Given the description of an element on the screen output the (x, y) to click on. 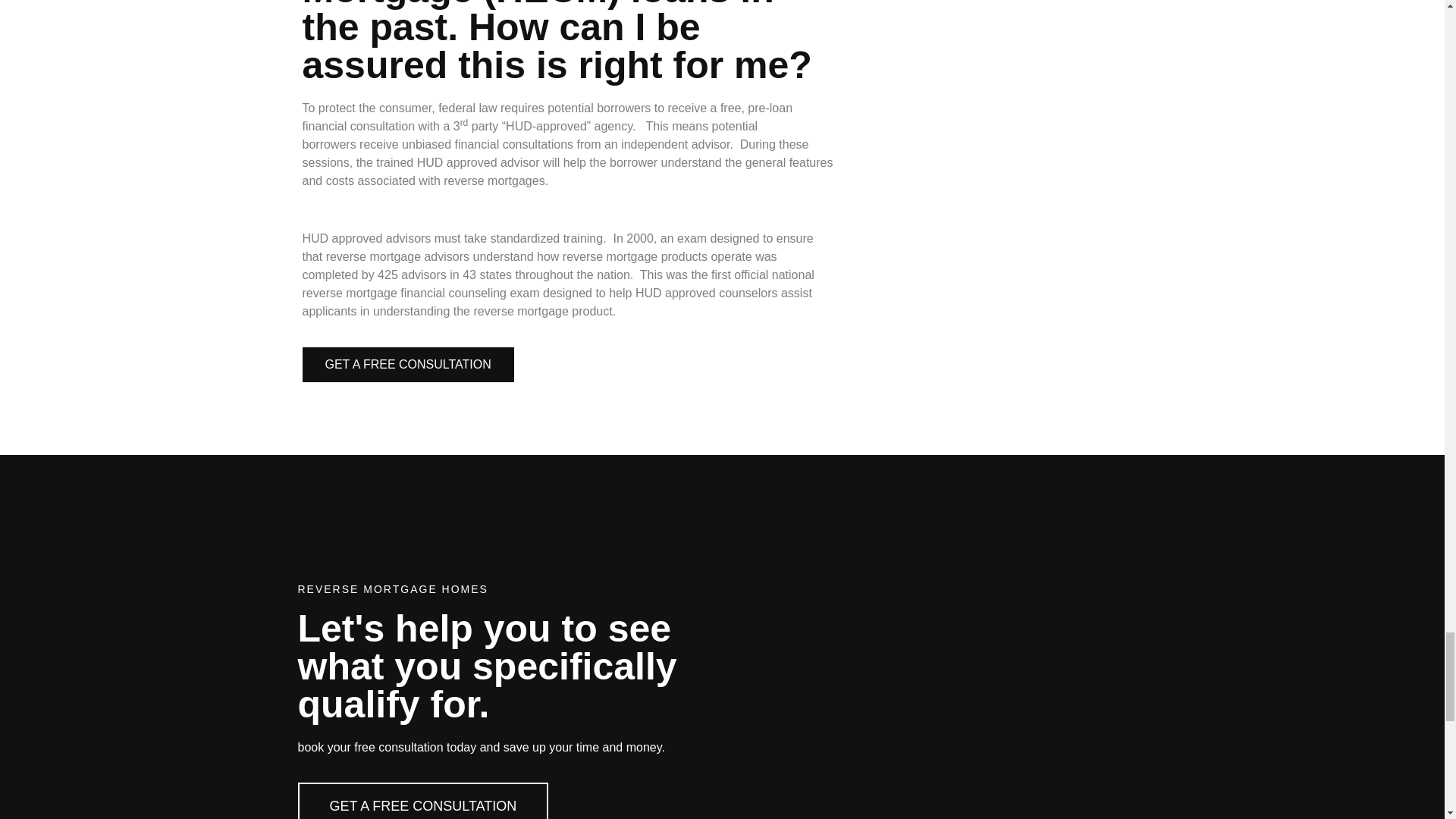
GET A FREE CONSULTATION (422, 800)
GET A FREE CONSULTATION (407, 364)
